Given the description of an element on the screen output the (x, y) to click on. 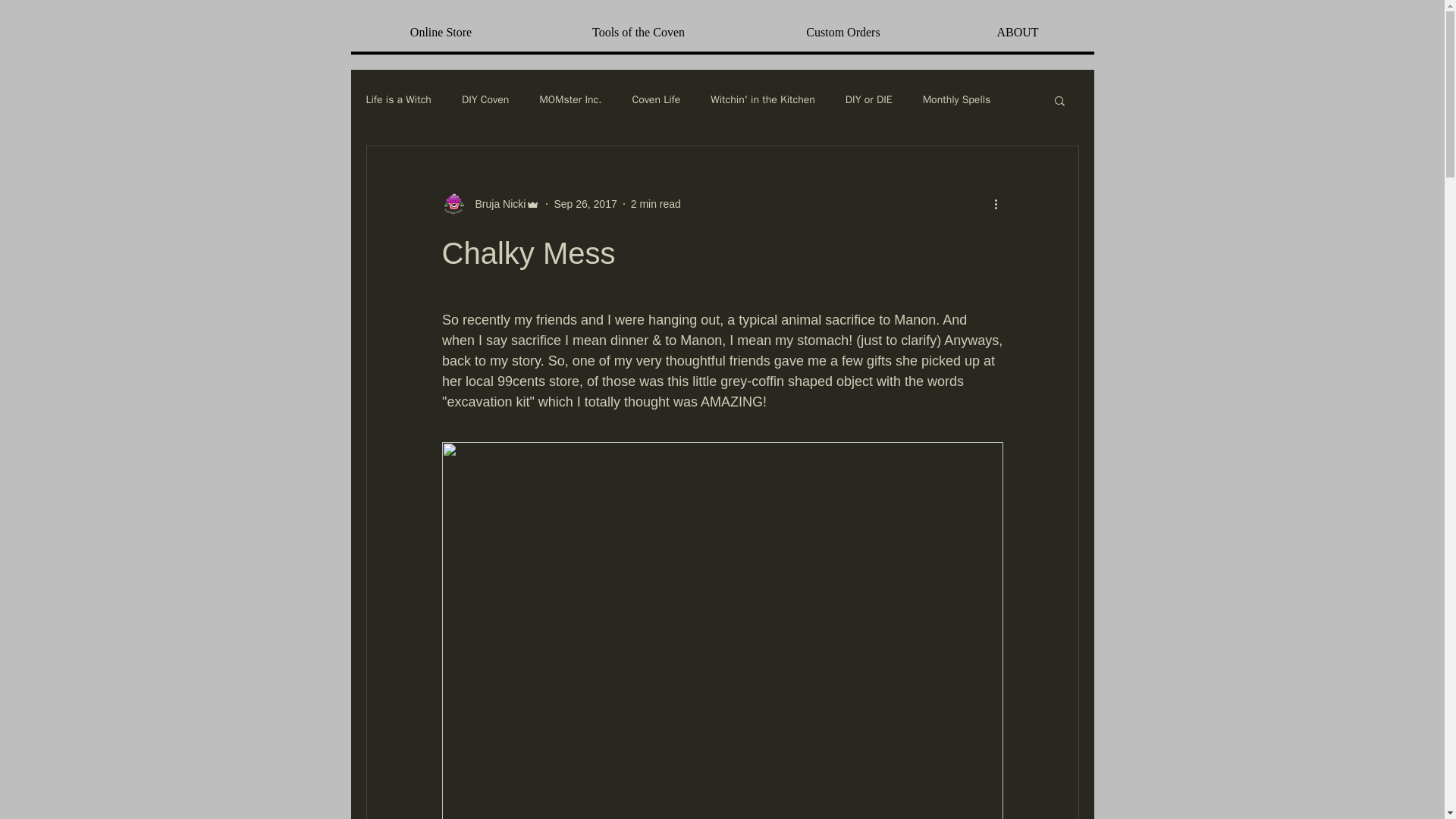
Online Store (440, 32)
Tools of the Coven (637, 32)
2 min read (655, 203)
Coven Life (656, 100)
Bruja Nicki (495, 203)
ABOUT (1016, 32)
MOMster Inc. (569, 100)
DIY or DIE (868, 100)
Monthly Spells (957, 100)
Sep 26, 2017 (584, 203)
DIY Coven (484, 100)
Life is a Witch (397, 100)
Bruja Nicki (490, 203)
Custom Orders (842, 32)
Witchin' in the Kitchen (762, 100)
